Given the description of an element on the screen output the (x, y) to click on. 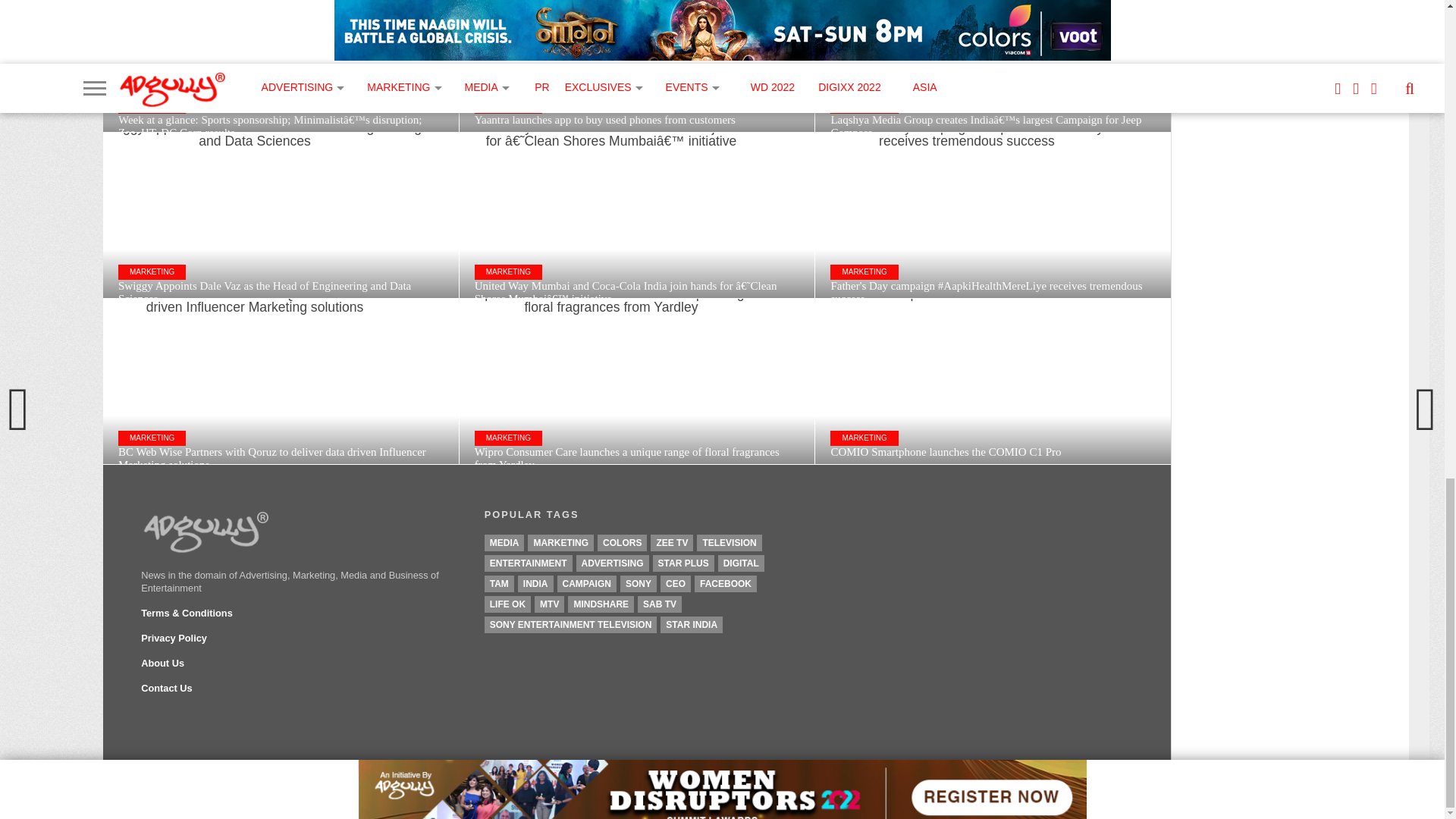
Colors (621, 542)
Entertainment (528, 563)
Marketing (560, 542)
Advertising (612, 563)
Zee TV (671, 542)
Star Plus (683, 563)
Media (504, 542)
Television (729, 542)
